Given the description of an element on the screen output the (x, y) to click on. 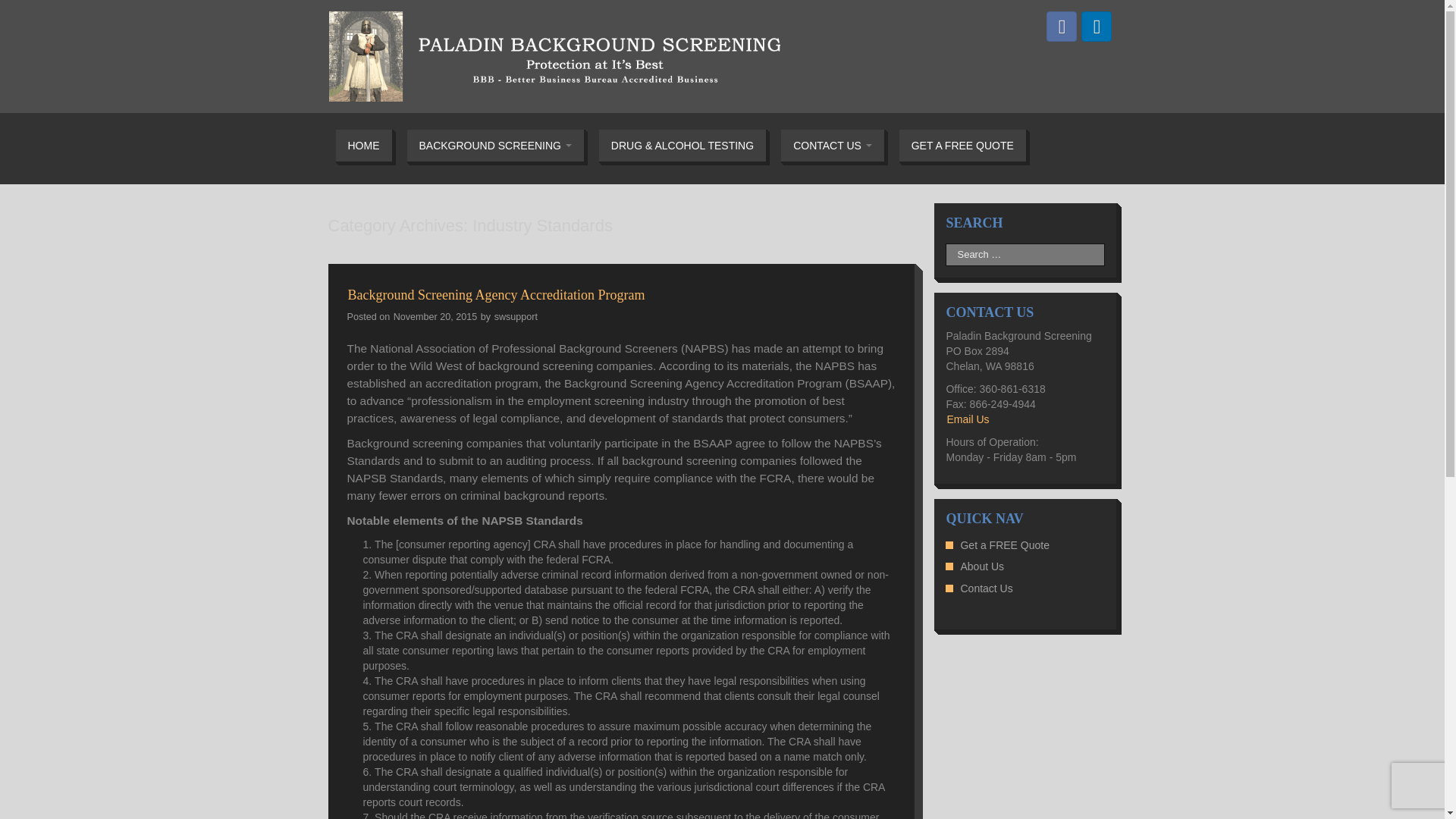
Paladin Background Screening (554, 55)
Paladin Background Screening Linkedin (1096, 26)
swsupport (516, 316)
CONTACT US (832, 145)
12:04 am (436, 316)
HOME (363, 145)
About Us (981, 566)
Background Screening Agency Accreditation Program (496, 294)
November 20, 2015 (436, 316)
Get a FREE Quote (1004, 544)
Paladin Background Screening Facebook (1061, 26)
Contact Us (985, 588)
View all posts by swsupport (516, 316)
Email Us (967, 419)
